Given the description of an element on the screen output the (x, y) to click on. 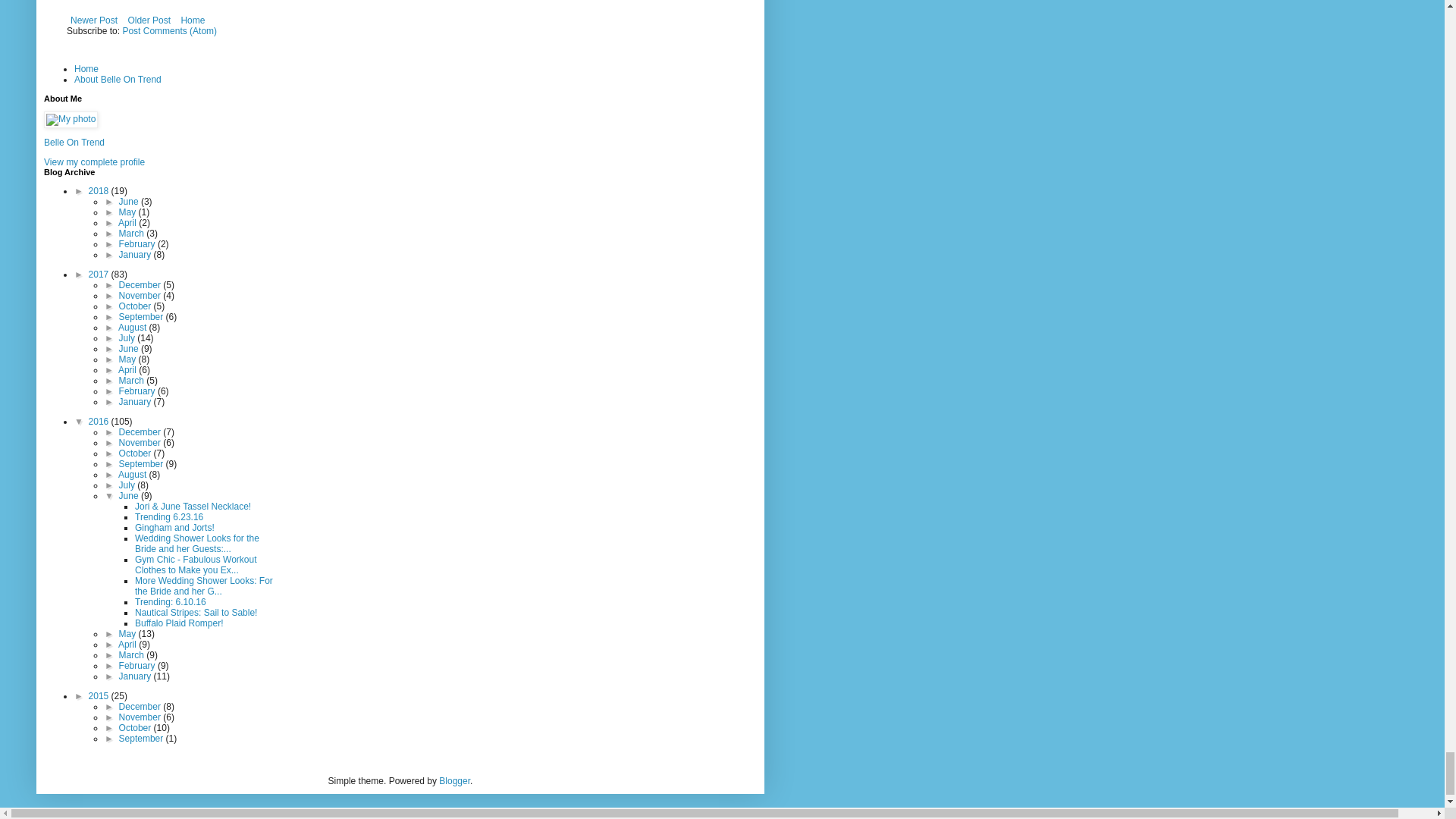
Newer Post (93, 20)
Older Post (148, 20)
